Given the description of an element on the screen output the (x, y) to click on. 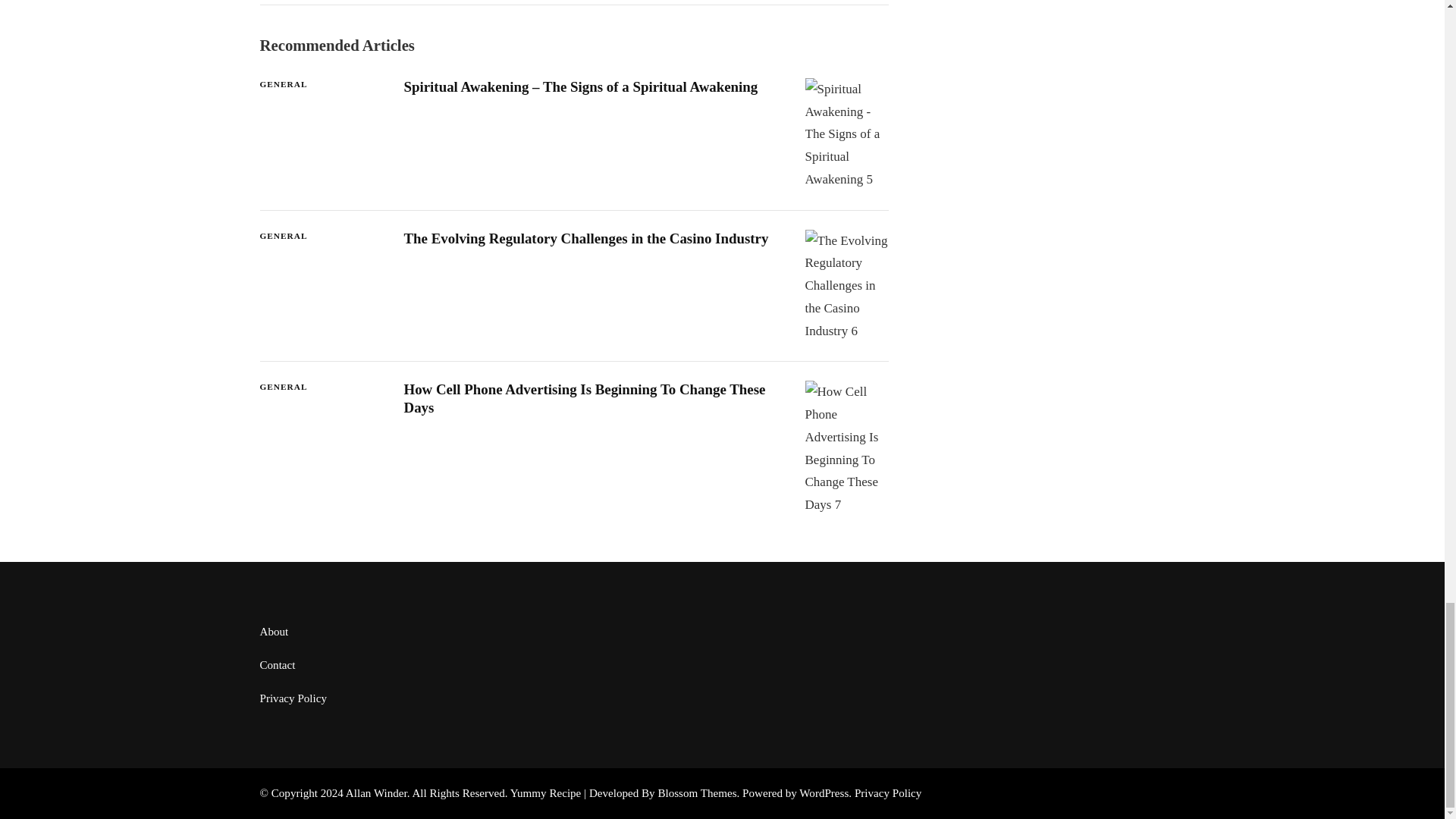
GENERAL (283, 195)
